Given the description of an element on the screen output the (x, y) to click on. 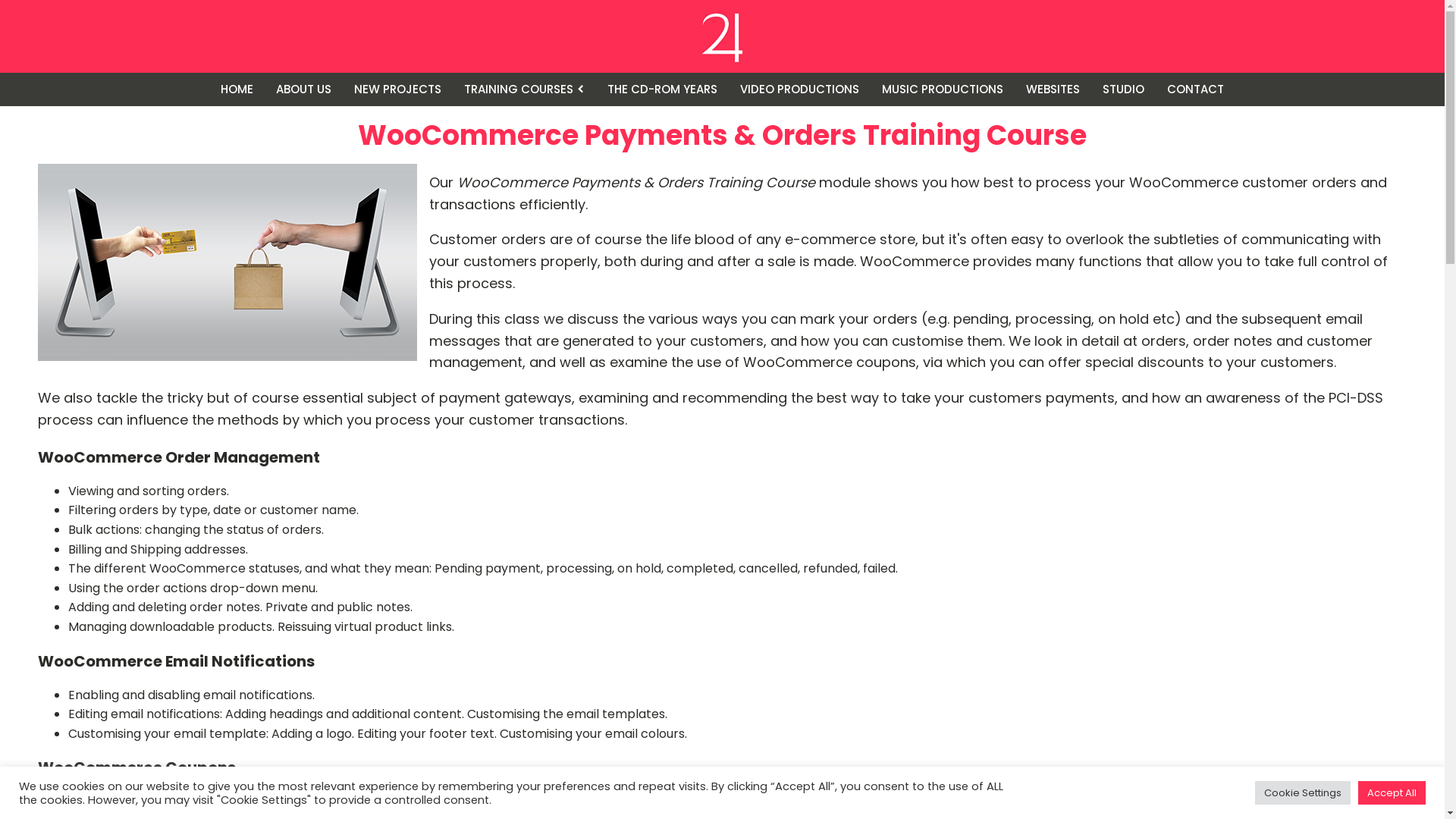
ABOUT US Element type: text (303, 89)
VIDEO PRODUCTIONS Element type: text (799, 89)
TRAINING COURSES Element type: text (524, 89)
STUDIO Element type: text (1123, 89)
MUSIC PRODUCTIONS Element type: text (942, 89)
HOME Element type: text (236, 89)
NEW PROJECTS Element type: text (397, 89)
WEBSITES Element type: text (1052, 89)
Cookie Settings Element type: text (1302, 792)
Accept All Element type: text (1391, 792)
CONTACT Element type: text (1195, 89)
THE CD-ROM YEARS Element type: text (662, 89)
